Given the description of an element on the screen output the (x, y) to click on. 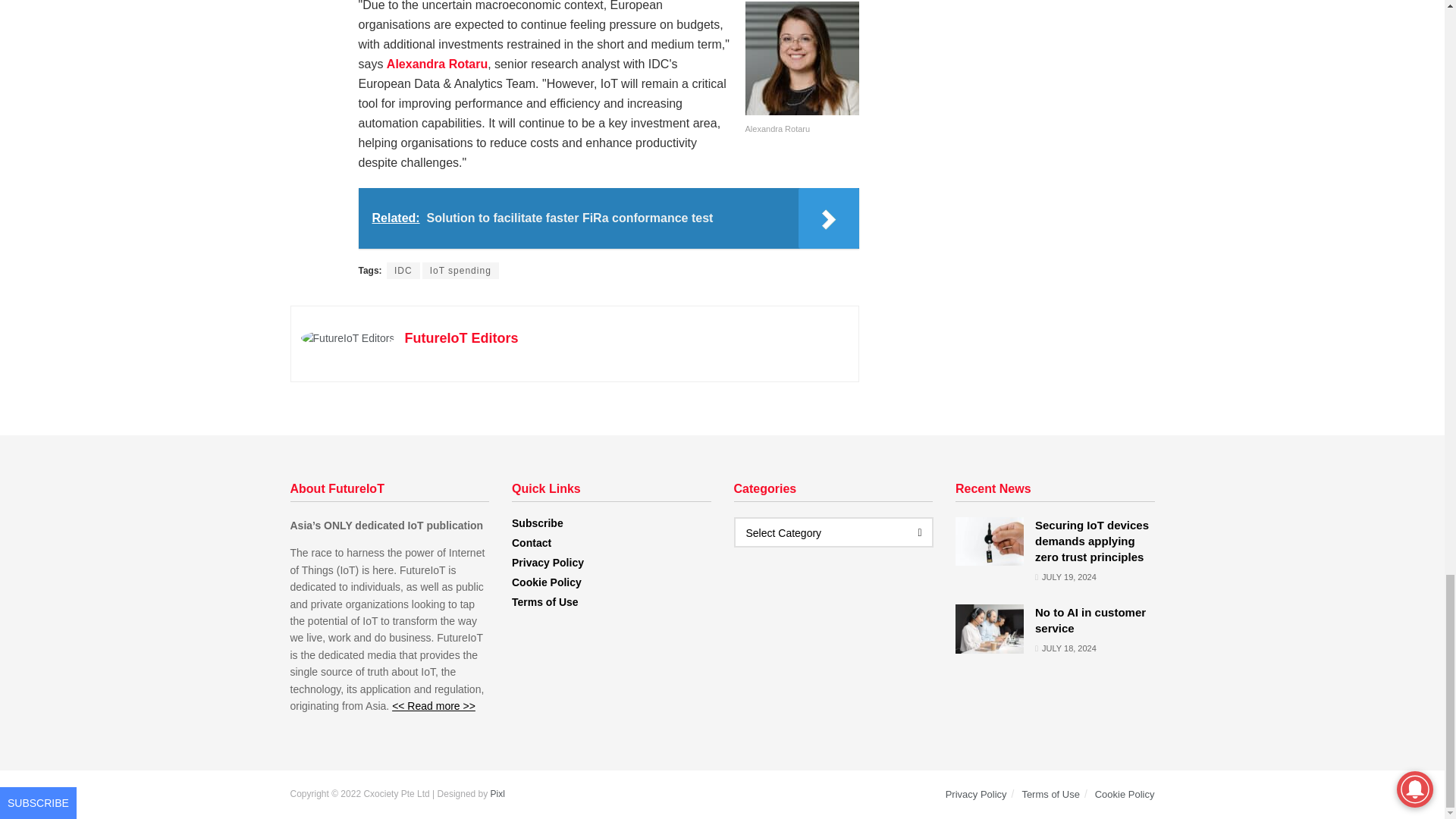
Pixl (497, 793)
